Given the description of an element on the screen output the (x, y) to click on. 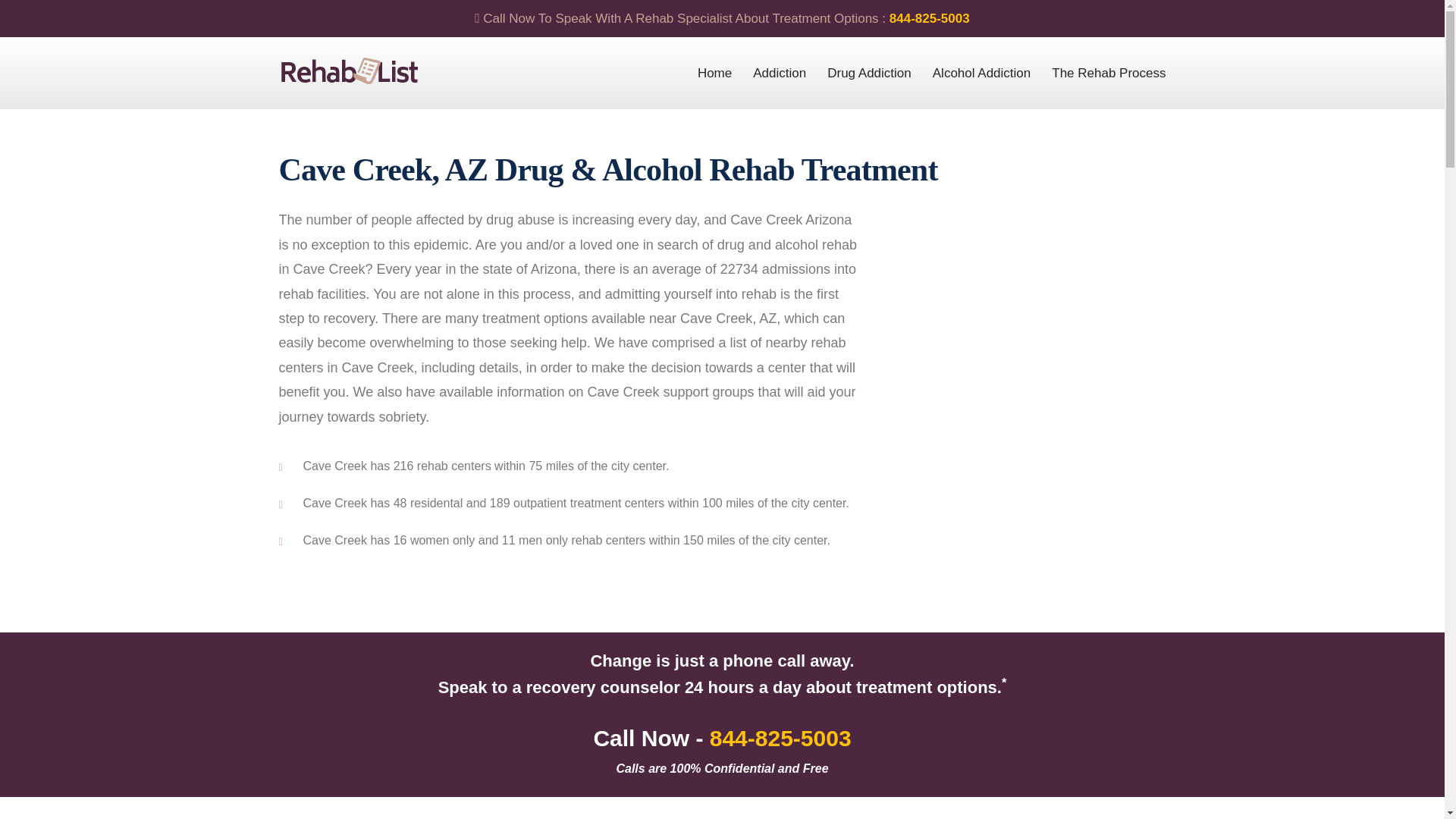
The Rehab Process (1108, 72)
844-825-5003 (929, 18)
Home (714, 72)
844-825-5003 (780, 738)
Addiction (779, 72)
Drug Addiction (869, 72)
Alcohol Addiction (981, 72)
